Given the description of an element on the screen output the (x, y) to click on. 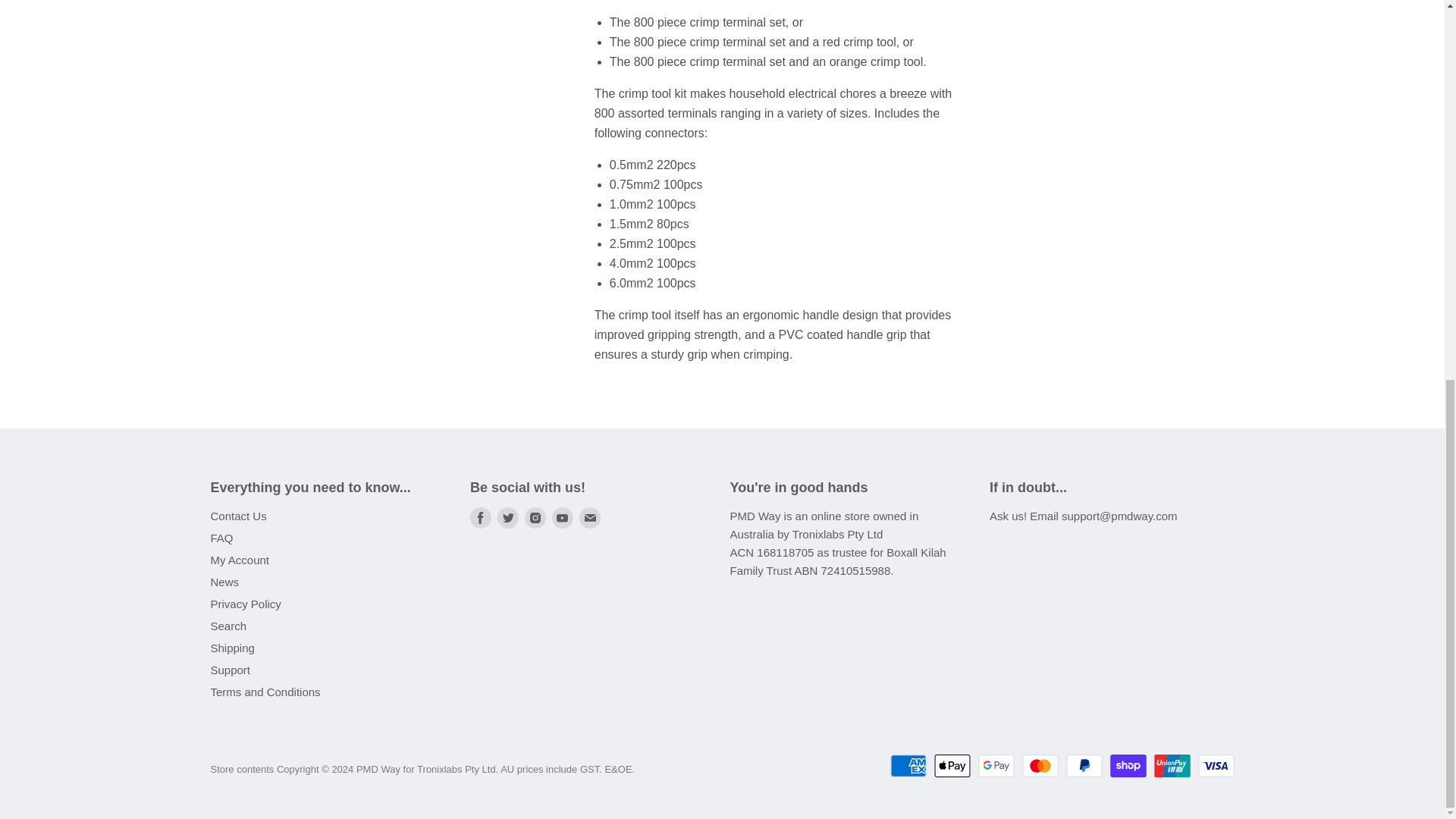
Instagram (534, 517)
Facebook (481, 517)
E-mail (590, 517)
Twitter (508, 517)
Youtube (562, 517)
